Given the description of an element on the screen output the (x, y) to click on. 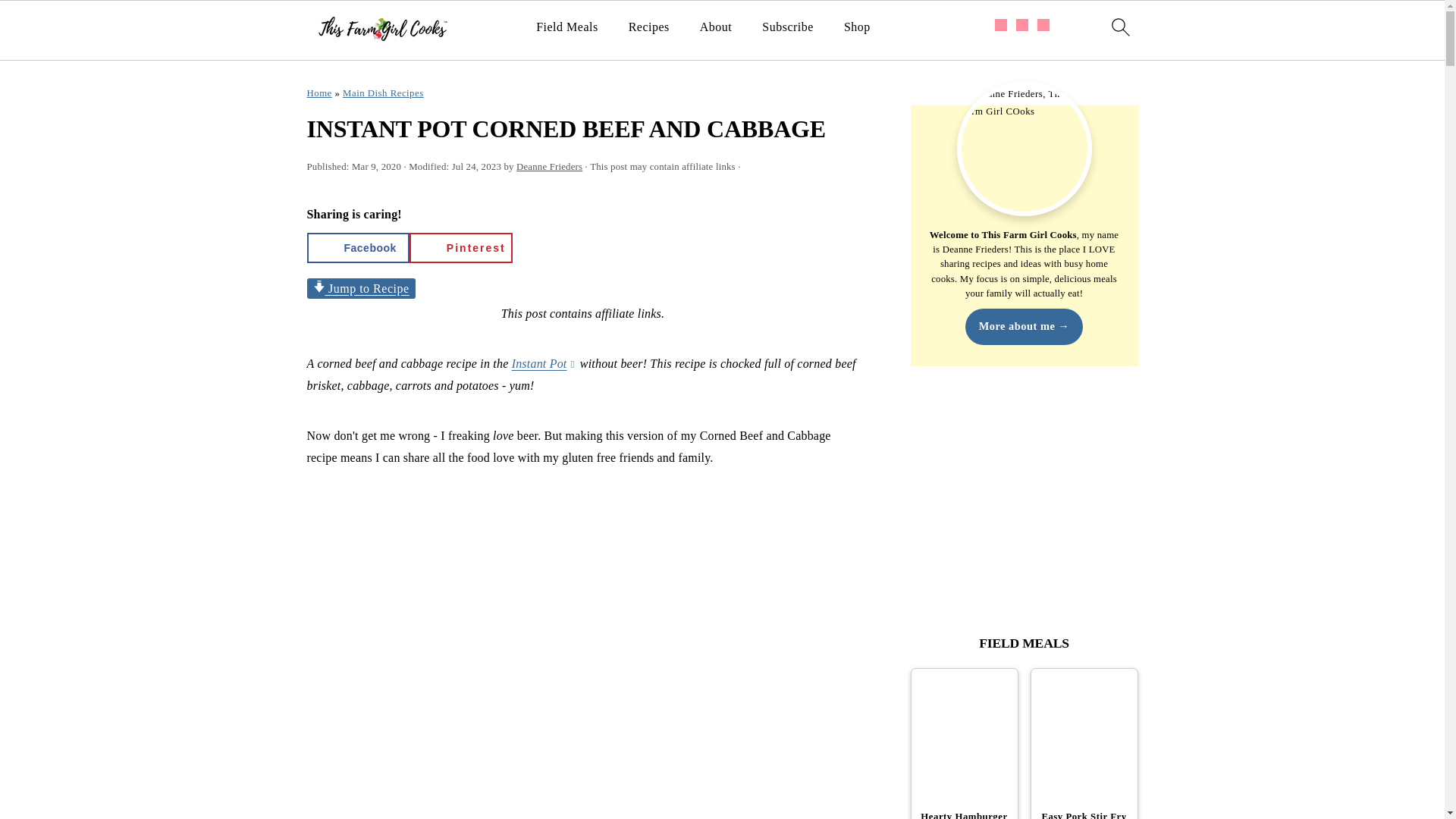
Subscribe (787, 26)
Recipes (648, 26)
Share on Facebook (357, 247)
Save to Pinterest (460, 247)
Shop (857, 26)
search icon (1119, 26)
About (716, 26)
Home (318, 92)
Main Dish Recipes (382, 92)
Field Meals (566, 26)
